Given the description of an element on the screen output the (x, y) to click on. 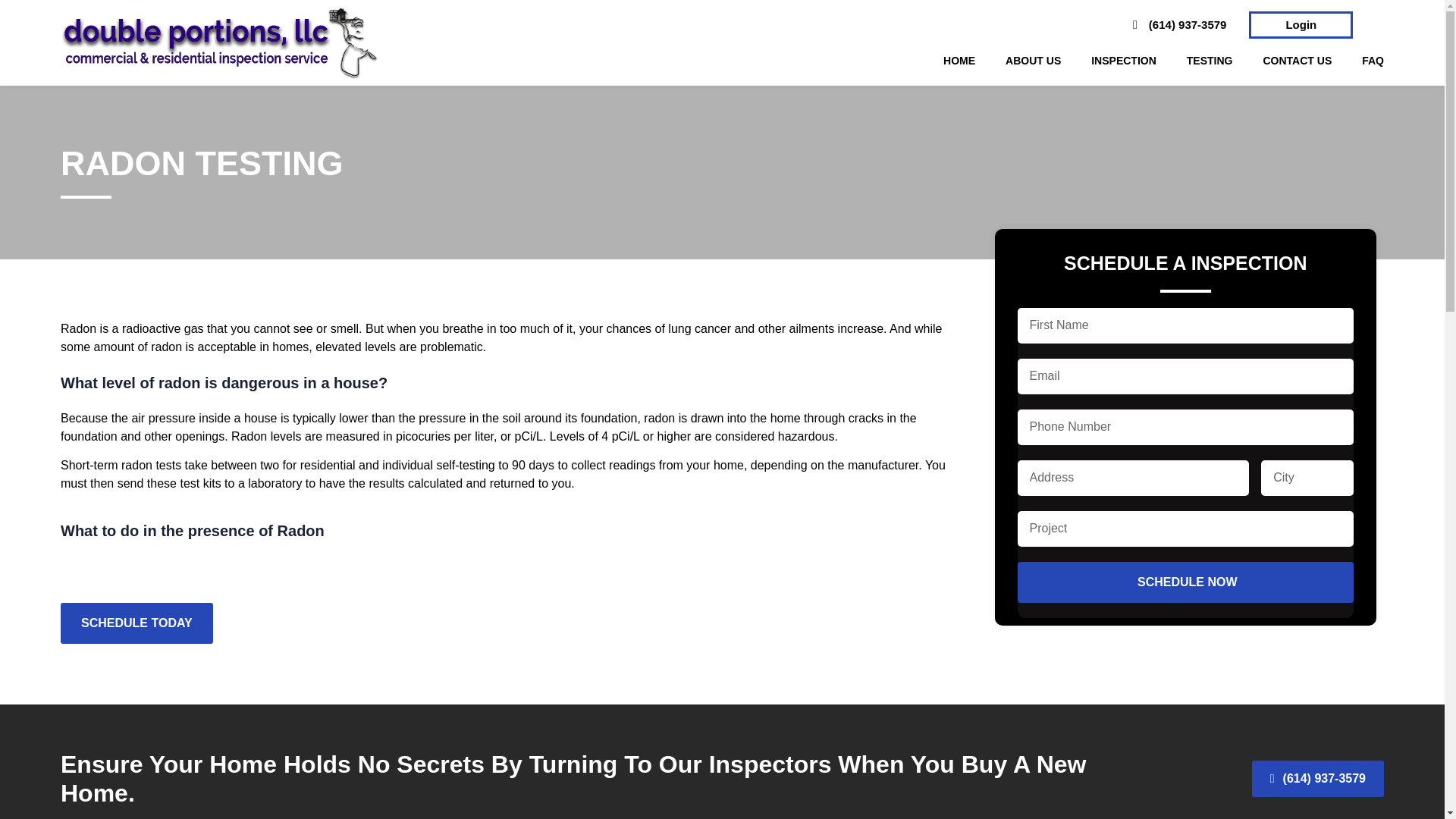
HOME (959, 60)
TESTING (1209, 60)
INSPECTION (1123, 60)
ABOUT US (1033, 60)
CONTACT US (1297, 60)
Login (1300, 24)
SCHEDULE TODAY (136, 622)
